Given the description of an element on the screen output the (x, y) to click on. 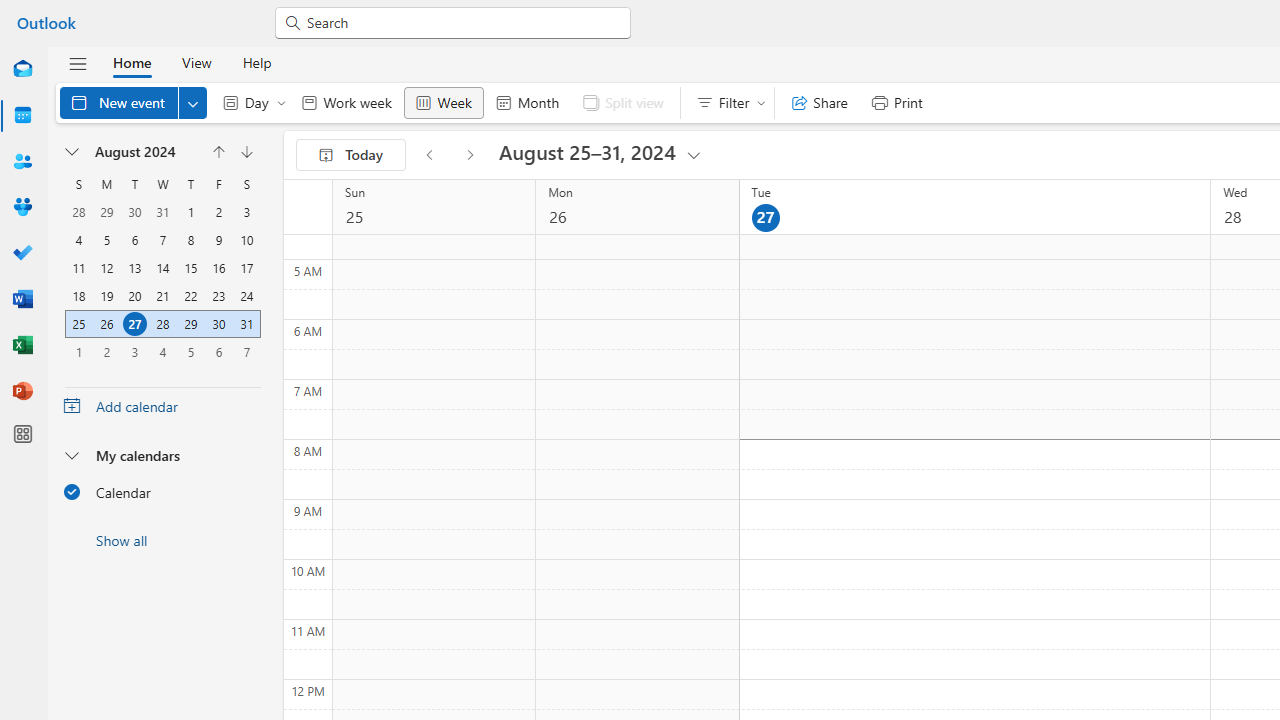
18, August, 2024 (78, 295)
System (10, 11)
30, July, 2024 (134, 212)
Month (527, 102)
Monday (107, 183)
18, August, 2024 (79, 296)
3, August, 2024 (246, 211)
Hide navigation pane (77, 63)
People (22, 161)
Friday (218, 183)
30, July, 2024 (134, 211)
31, August, 2024 (246, 323)
1, September, 2024 (78, 351)
New event (133, 102)
